Given the description of an element on the screen output the (x, y) to click on. 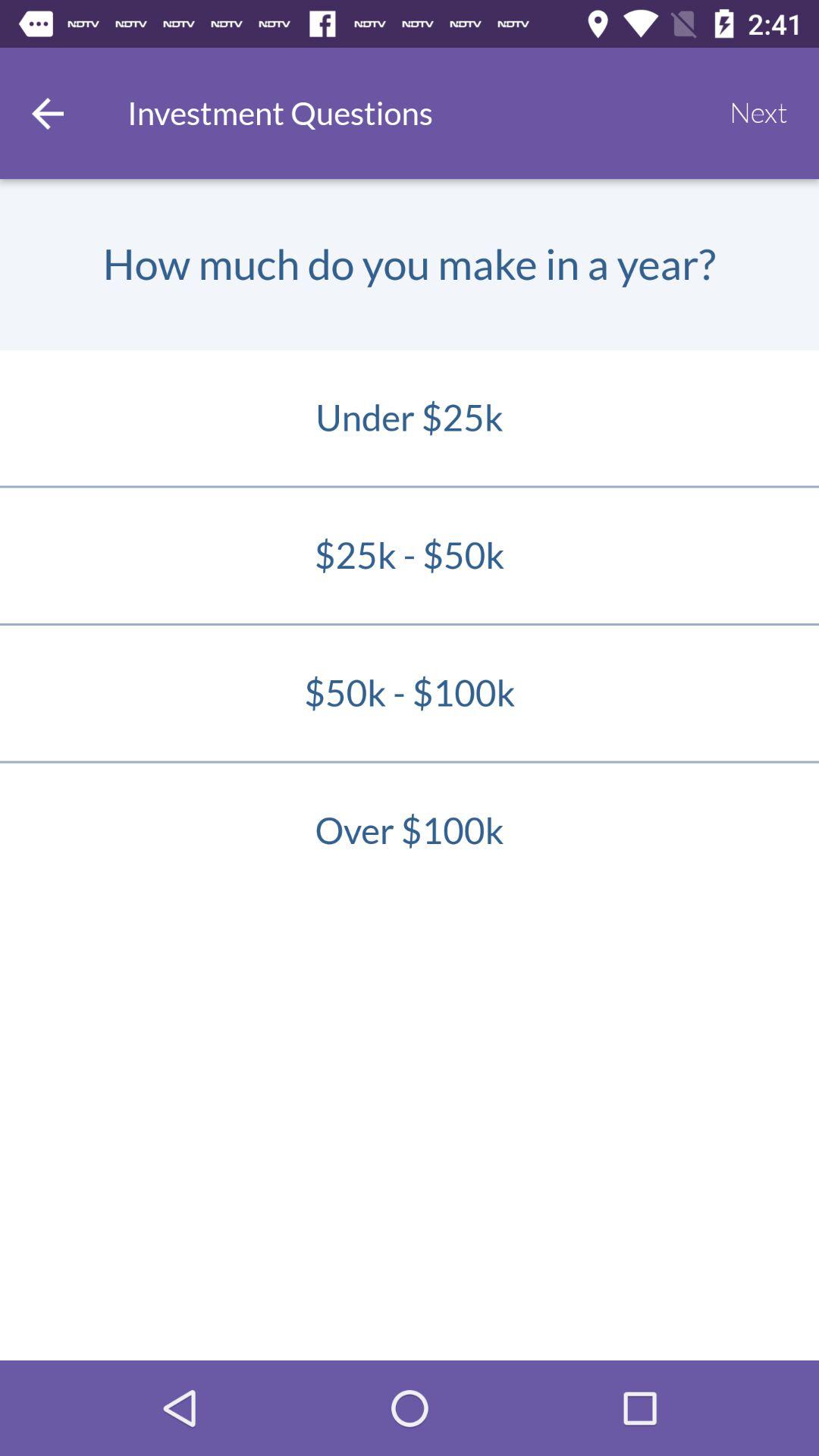
go back to previous page (47, 113)
